Given the description of an element on the screen output the (x, y) to click on. 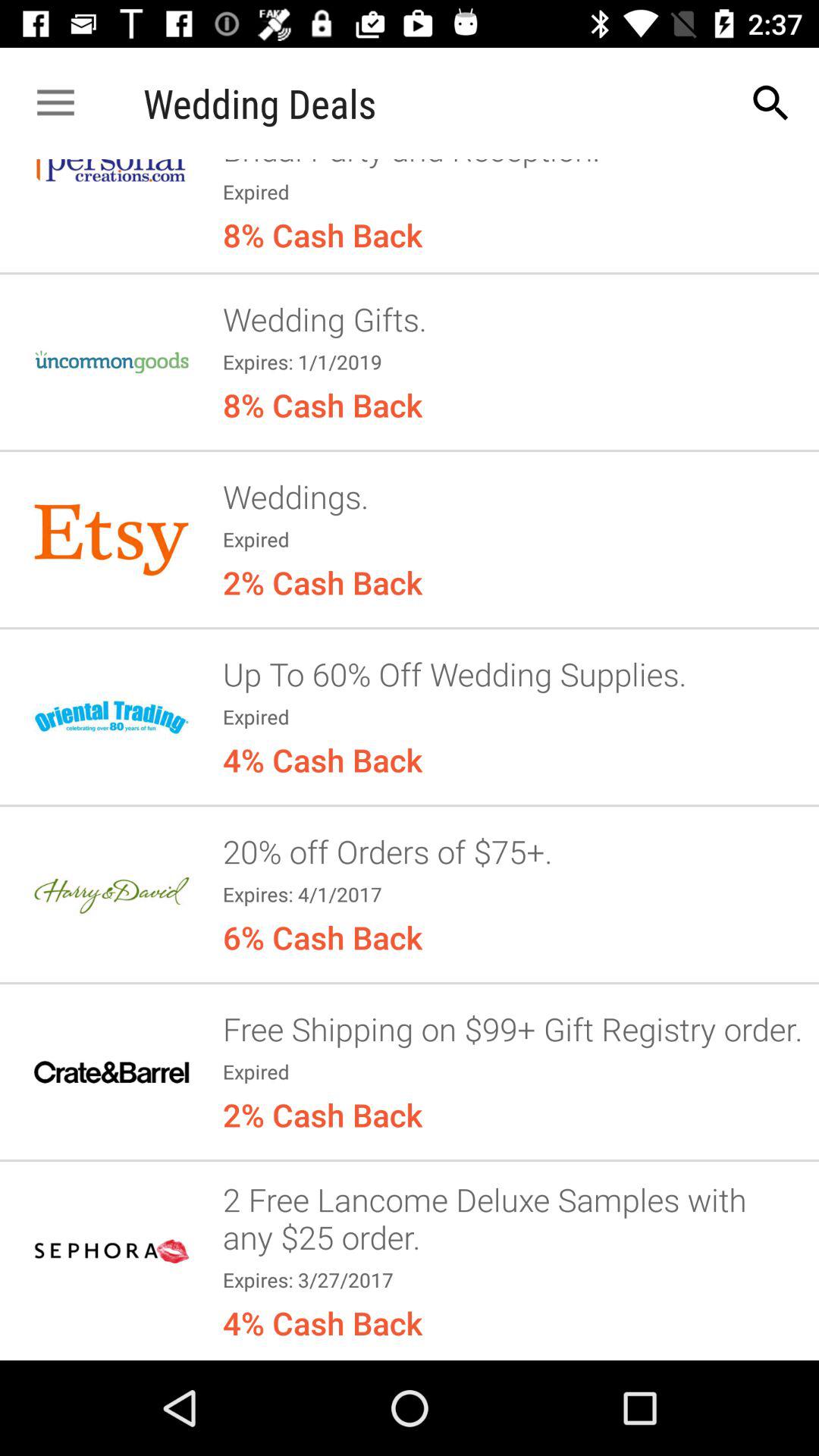
open item at the top right corner (771, 103)
